Given the description of an element on the screen output the (x, y) to click on. 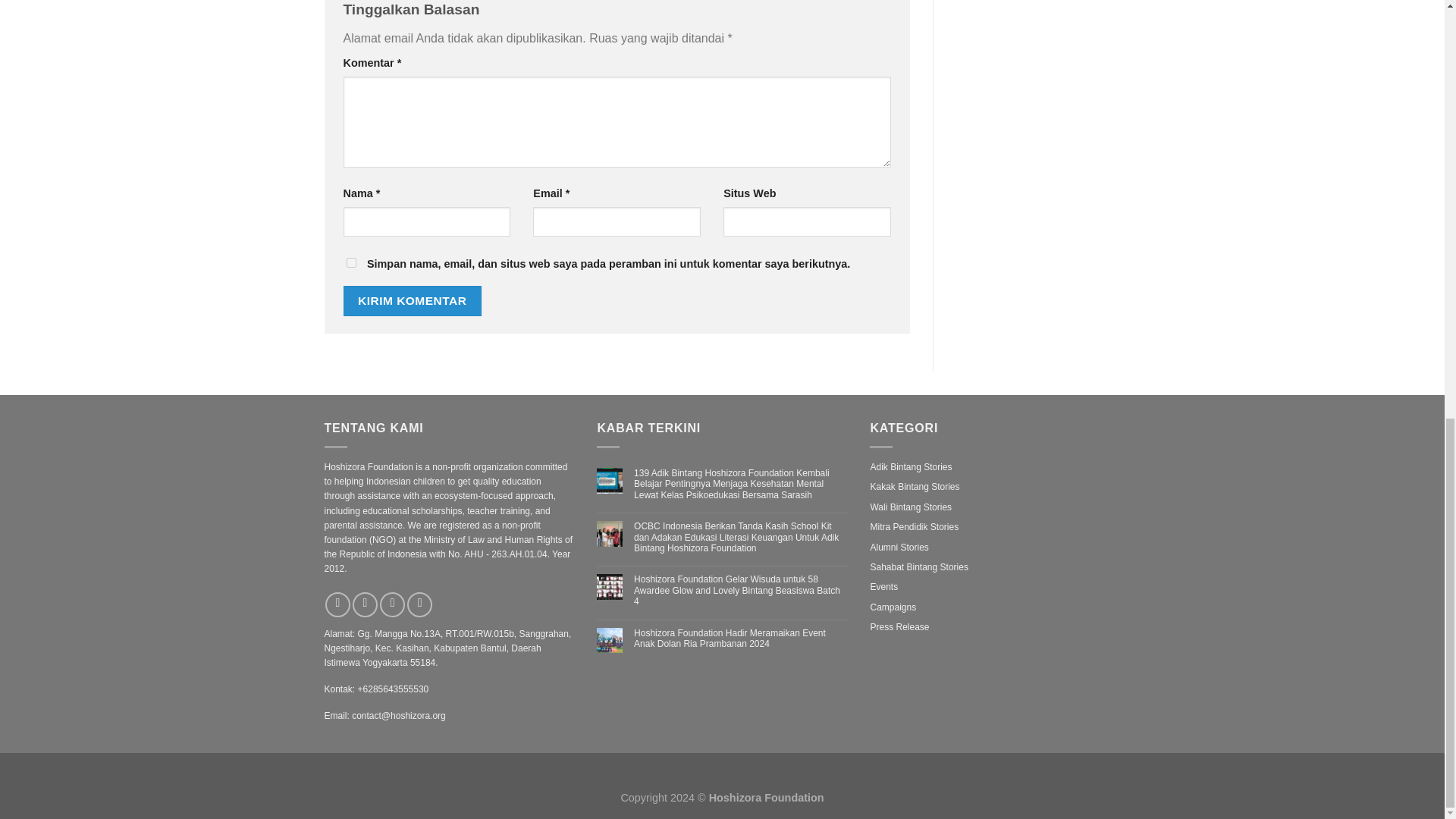
Follow on TikTok (392, 604)
Follow on LinkedIn (419, 604)
Follow on Facebook (337, 604)
Follow on Instagram (364, 604)
yes (350, 262)
Kirim Komentar (411, 300)
